Given the description of an element on the screen output the (x, y) to click on. 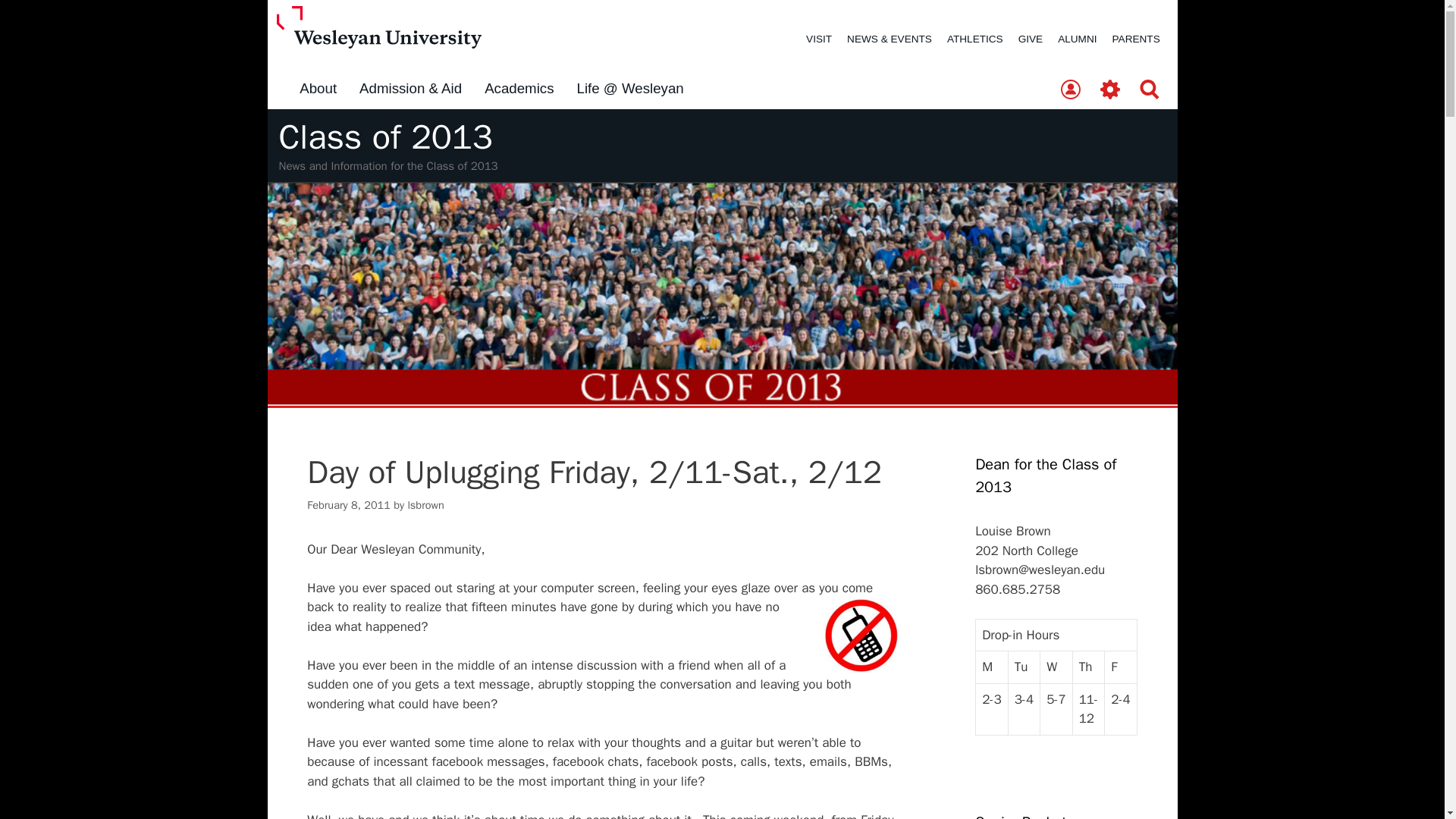
About (317, 89)
Search (1149, 90)
thumbnailCAKL3UDP (861, 635)
PARENTS (1136, 39)
View all posts by lsbrown (425, 504)
Directory (1069, 90)
Academics (518, 89)
Class of 2013 (386, 137)
VISIT (818, 39)
ATHLETICS (974, 39)
GIVE (1029, 39)
ALUMNI (1076, 39)
Tools (1109, 90)
lsbrown (425, 504)
